Given the description of an element on the screen output the (x, y) to click on. 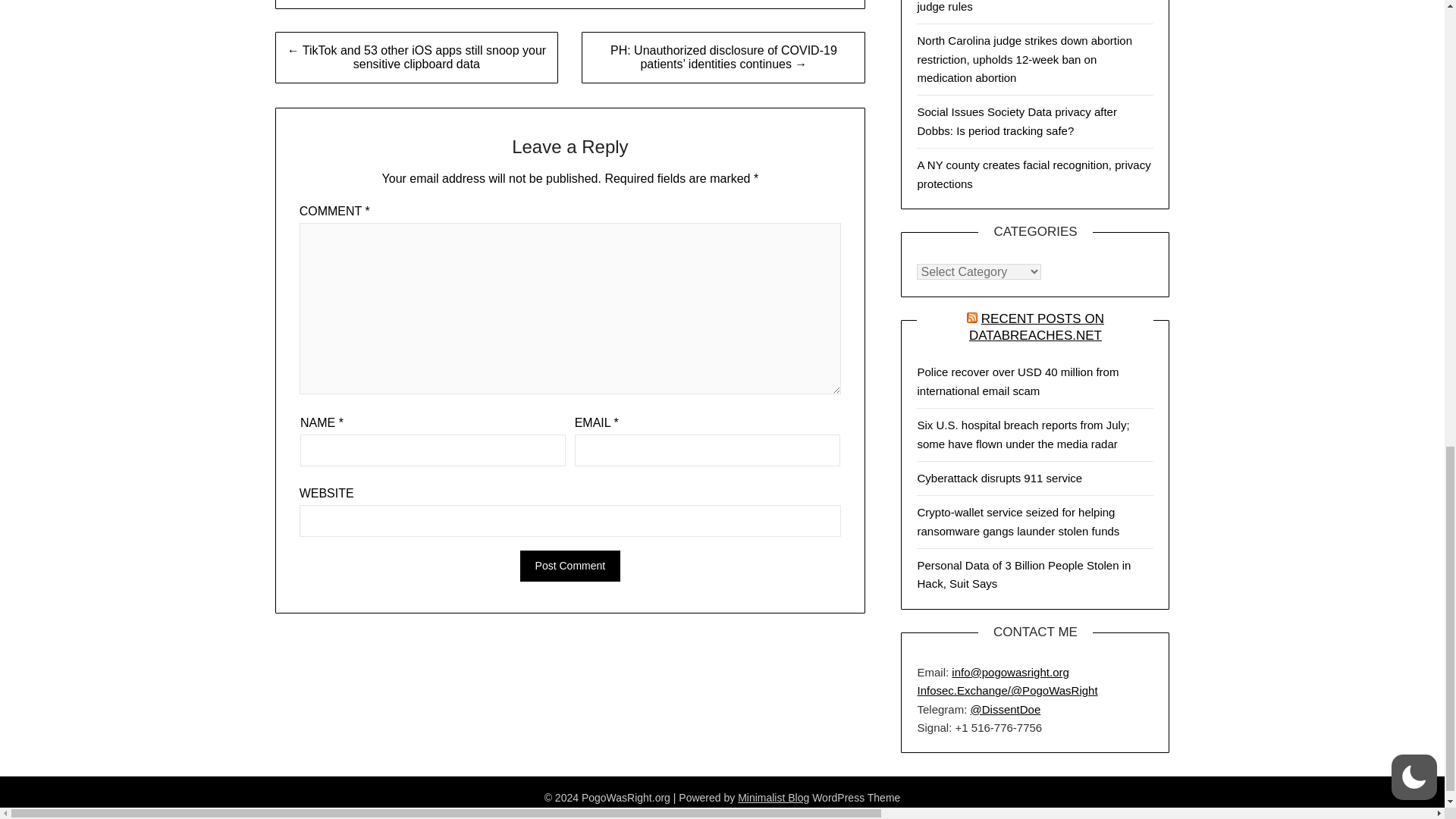
Personal Data of 3 Billion People Stolen in Hack, Suit Says (1024, 573)
Minimalist Blog (773, 797)
Cyberattack disrupts 911 service (999, 477)
Post Comment (570, 565)
A NY county creates facial recognition, privacy protections (1033, 173)
Post Comment (570, 565)
RECENT POSTS ON DATABREACHES.NET (1036, 327)
